Given the description of an element on the screen output the (x, y) to click on. 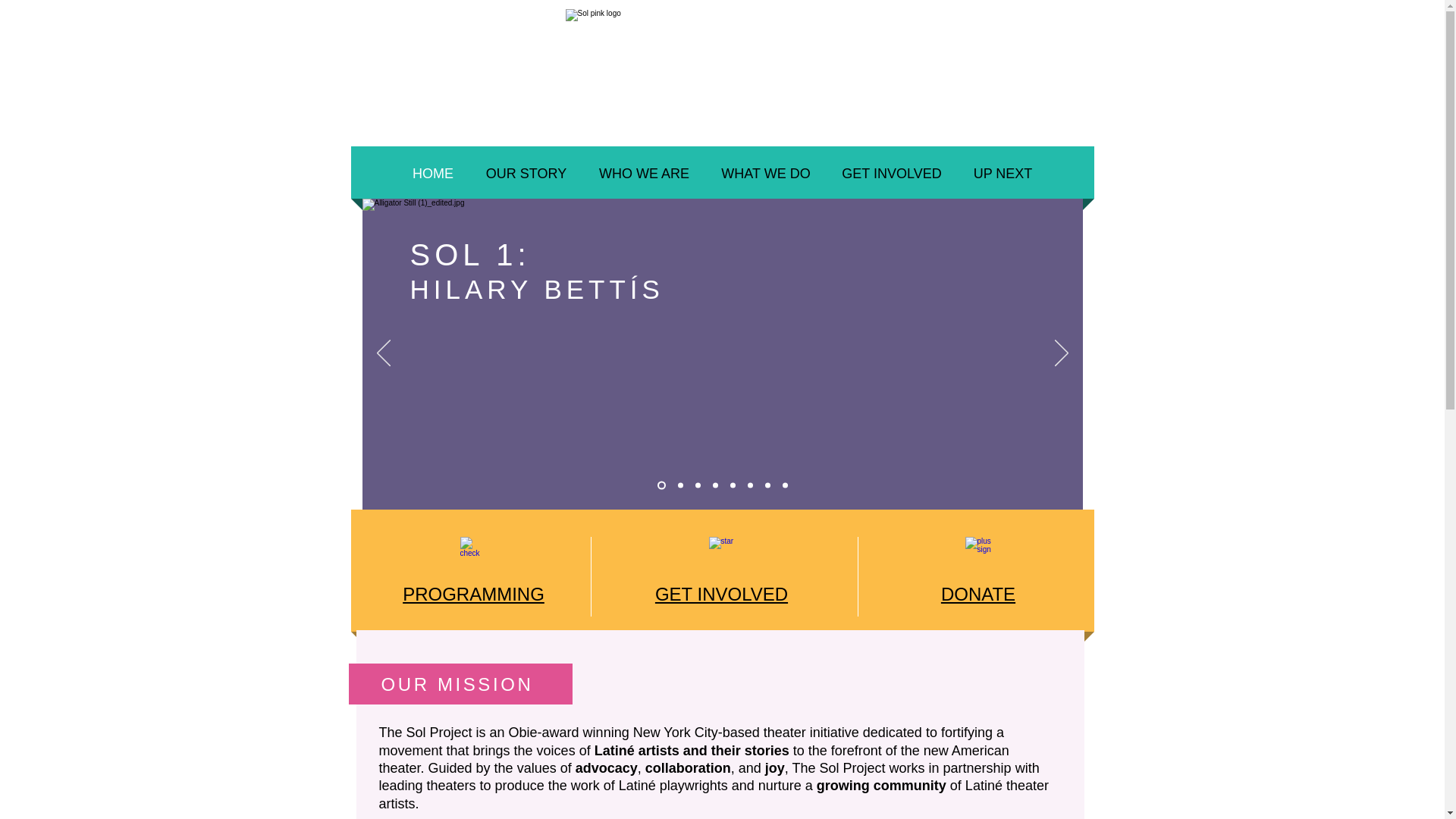
GET INVOLVED (721, 593)
HOME (432, 173)
PROGRAMMING (473, 593)
DONATE (977, 593)
OUR STORY (526, 173)
UP NEXT (1002, 173)
